Given the description of an element on the screen output the (x, y) to click on. 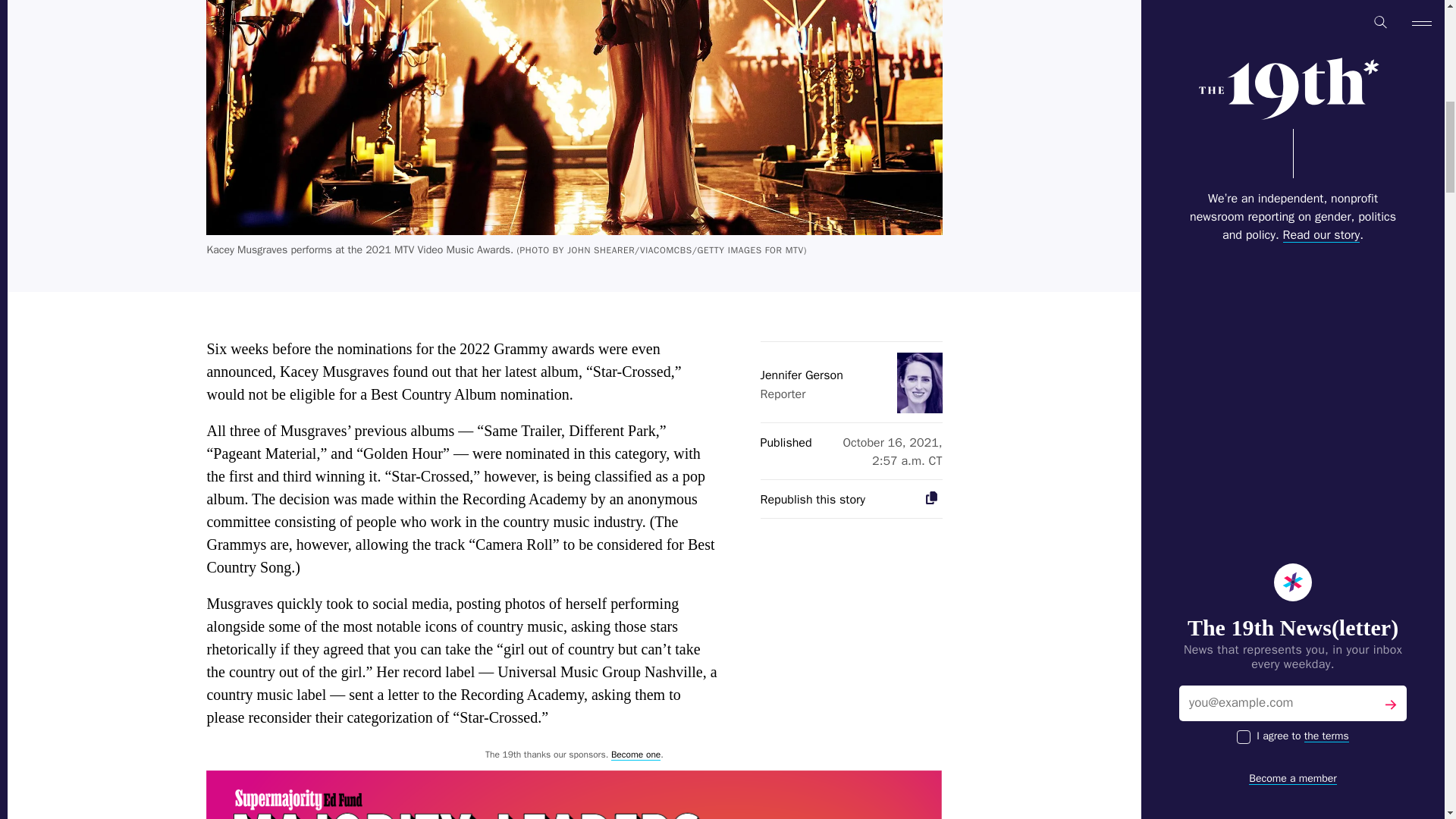
Speaker Series 970x250 (574, 794)
